Given the description of an element on the screen output the (x, y) to click on. 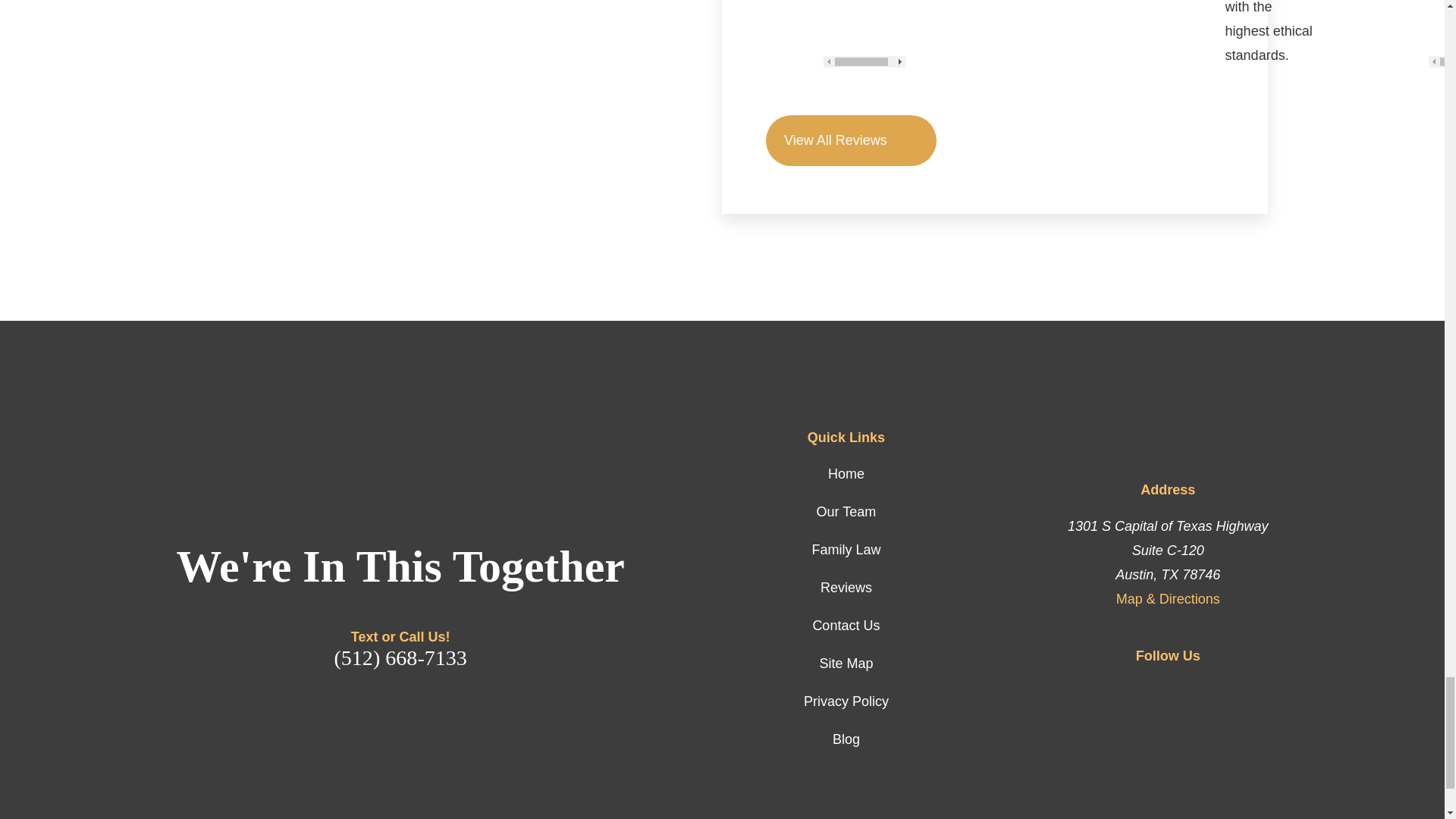
Facebook (1147, 689)
Google Business Profile (1186, 689)
Avvo (1226, 689)
LinkedIn (1108, 689)
